Given the description of an element on the screen output the (x, y) to click on. 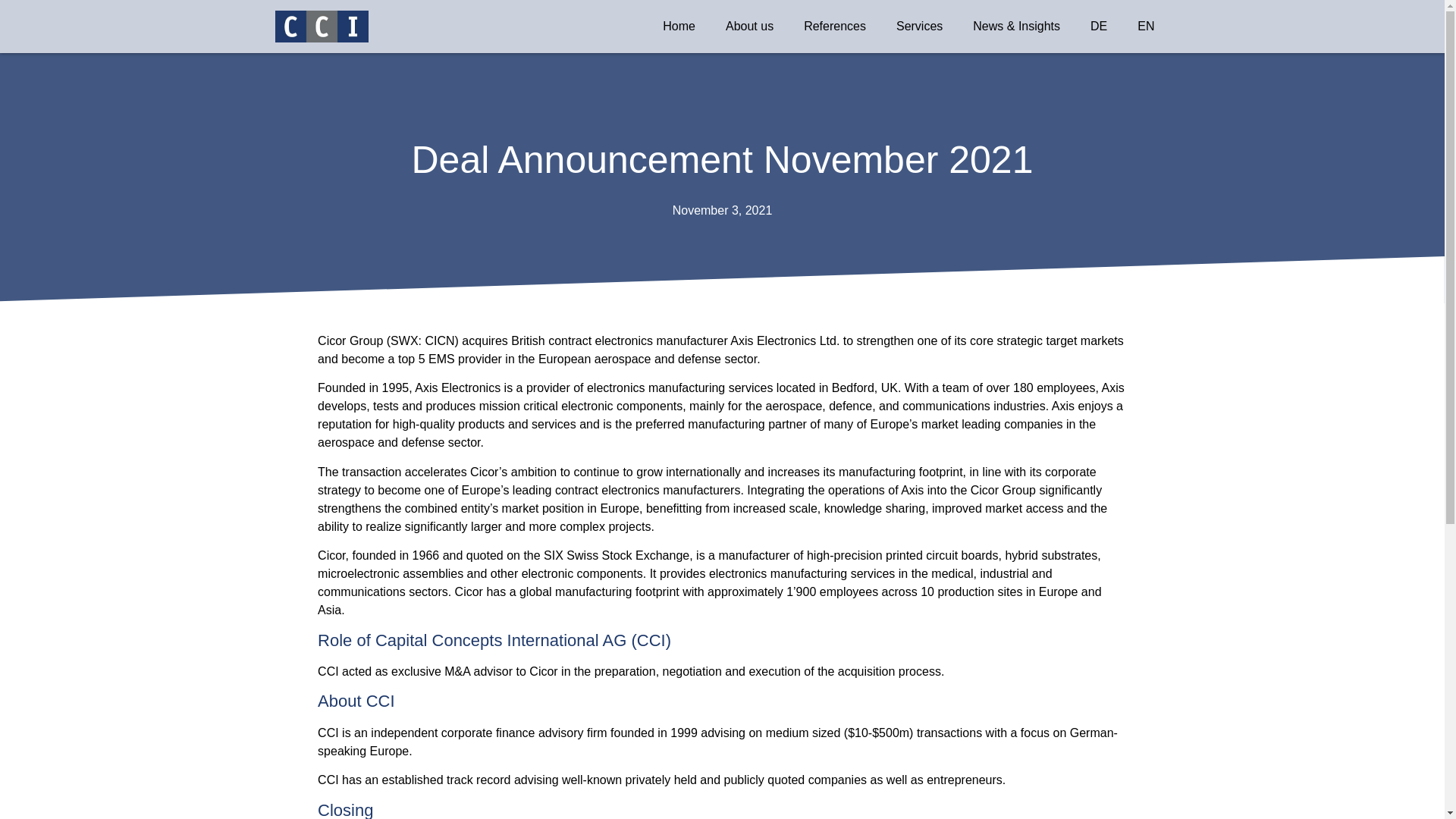
About us Element type: text (749, 26)
EN Element type: text (1145, 26)
News & Insights Element type: text (1016, 26)
Home Element type: text (678, 26)
References Element type: text (834, 26)
DE Element type: text (1098, 26)
Services Element type: text (919, 26)
